Given the description of an element on the screen output the (x, y) to click on. 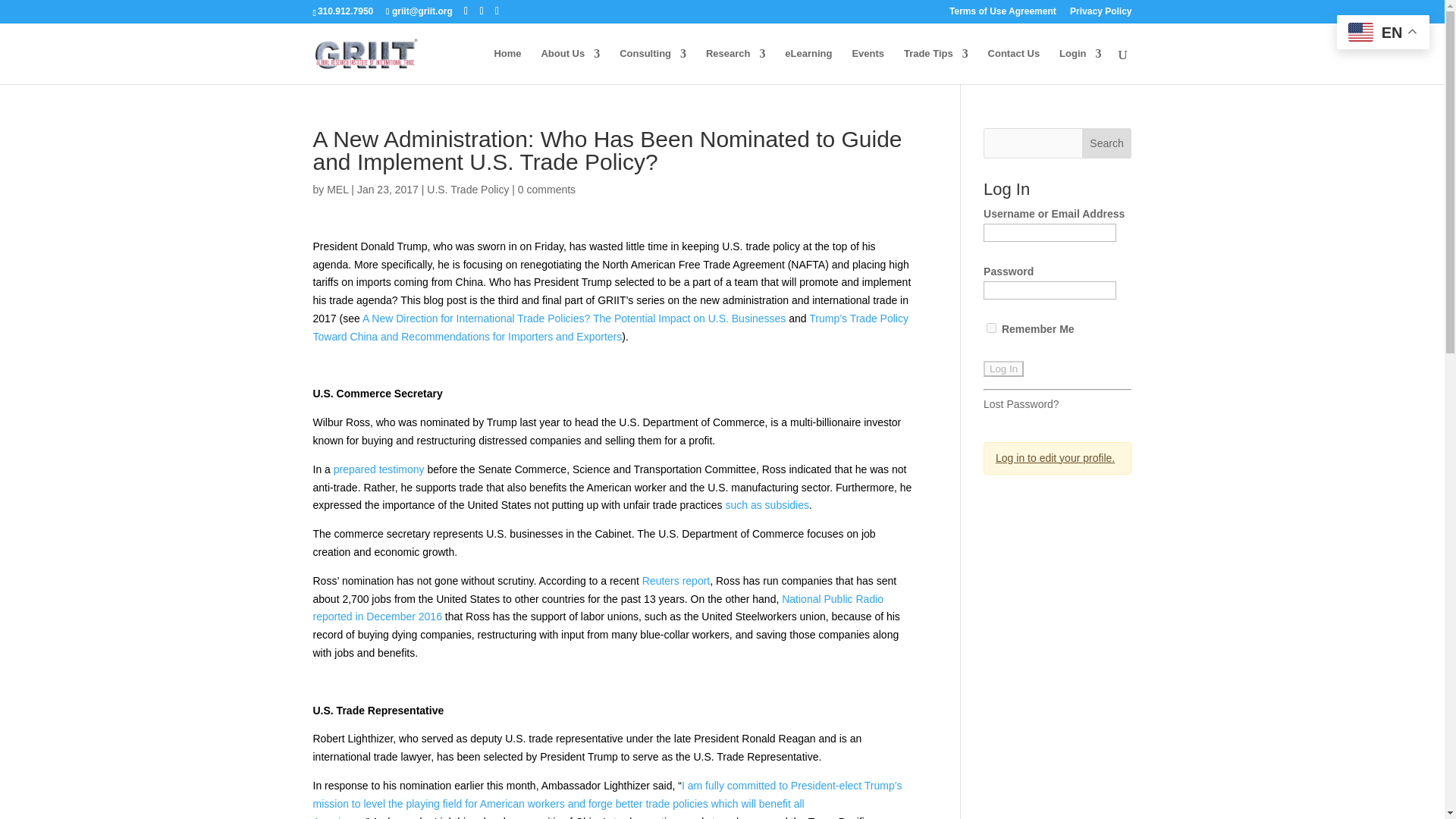
Consulting (652, 66)
Login (1079, 66)
Terms of Use Agreement (1003, 14)
Log In (1003, 368)
Privacy Policy (1100, 14)
Contact Us (1014, 66)
Posts by MEL (336, 189)
eLearning (807, 66)
Research (735, 66)
About Us (569, 66)
Trade Tips (936, 66)
Events (867, 66)
forever (991, 327)
